Given the description of an element on the screen output the (x, y) to click on. 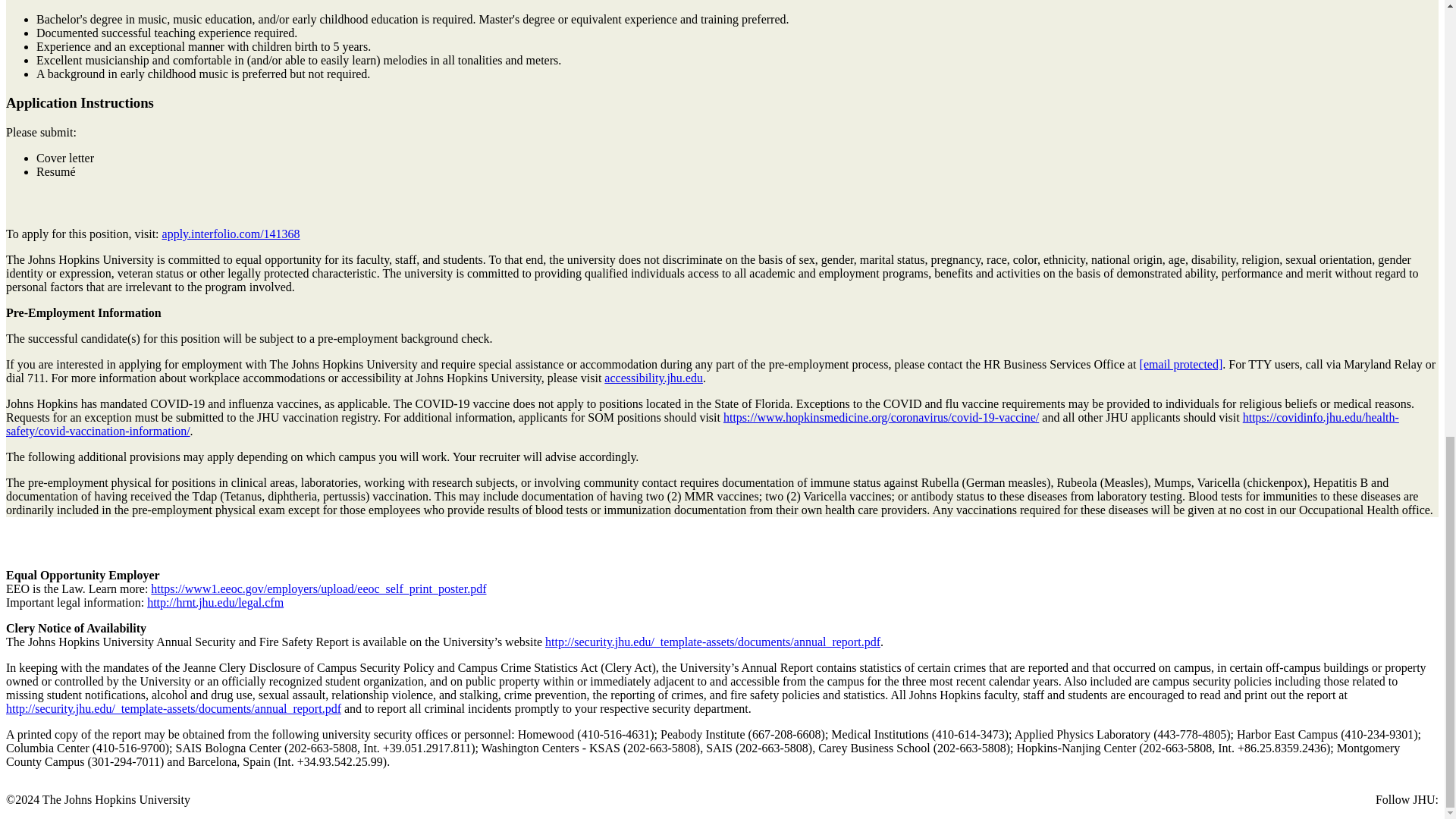
accessibility.jhu.edu (653, 377)
